Given the description of an element on the screen output the (x, y) to click on. 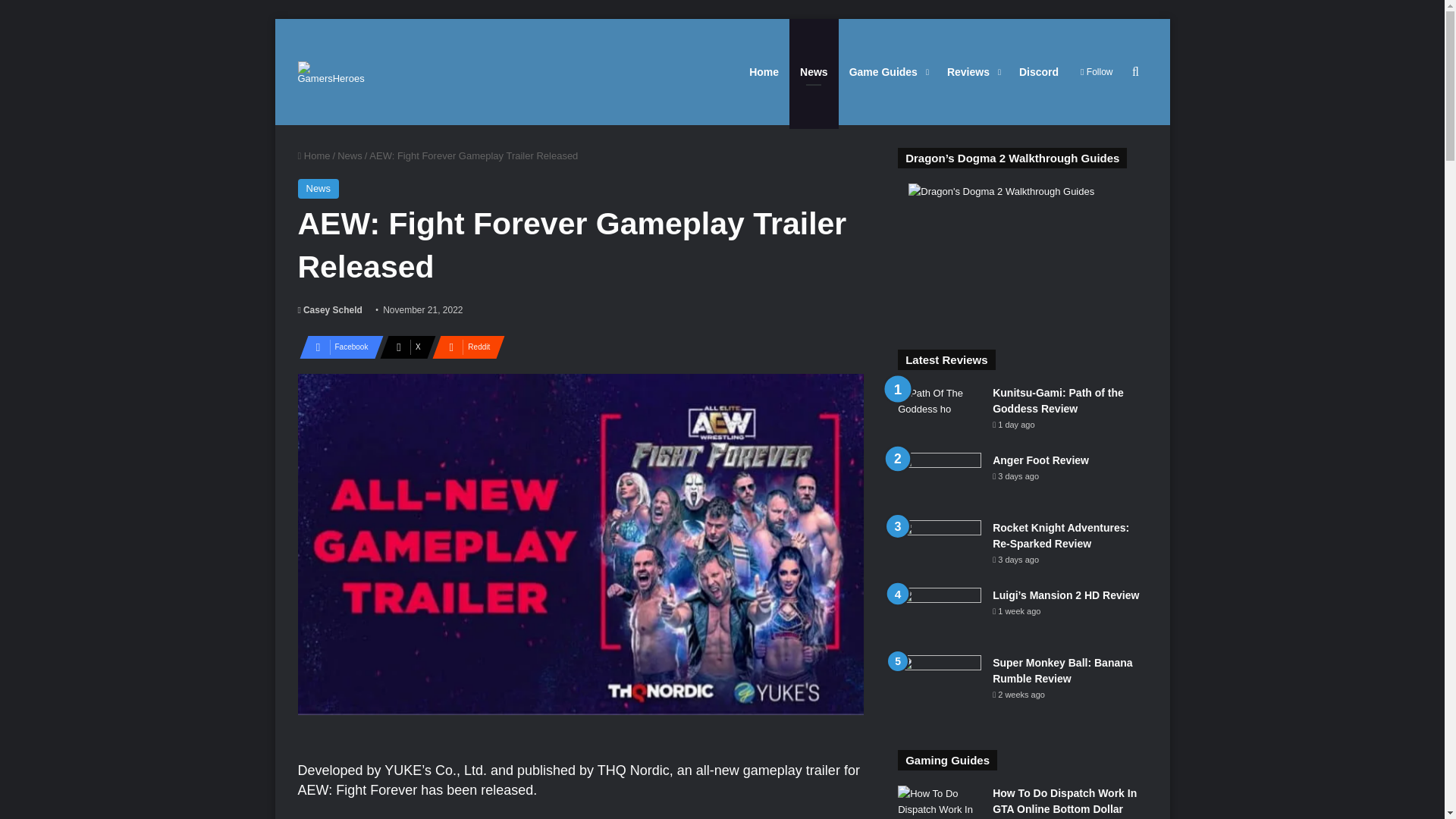
Facebook (336, 346)
Facebook (336, 346)
Reddit (464, 346)
X (403, 346)
News (349, 155)
Casey Scheld (329, 309)
News (318, 189)
Casey Scheld (329, 309)
Reddit (464, 346)
Game Guides (887, 71)
GamersHeroes (330, 71)
Game Guides (887, 71)
X (403, 346)
Home (313, 155)
